Given the description of an element on the screen output the (x, y) to click on. 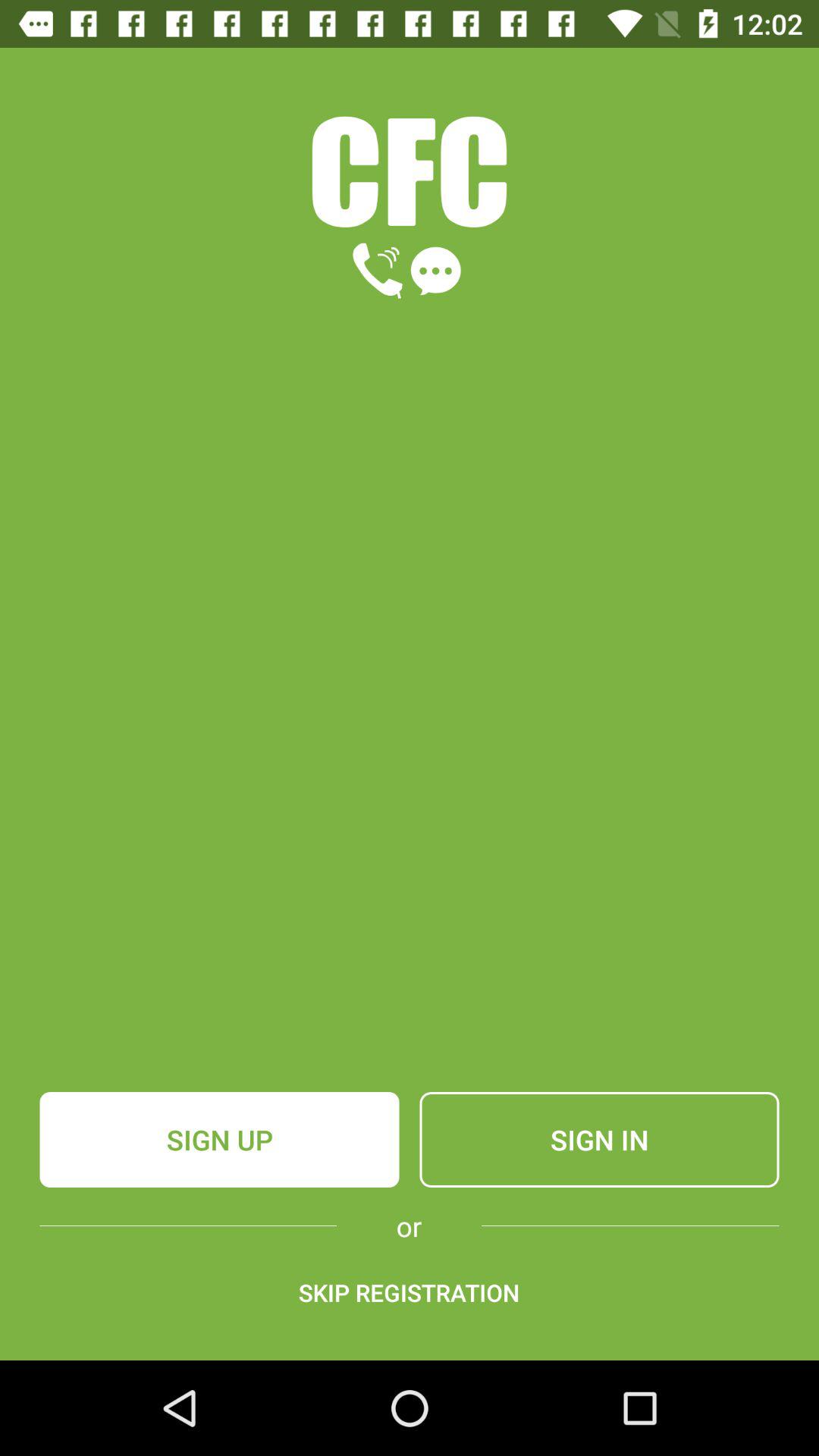
launch the item to the right of sign up (599, 1139)
